Given the description of an element on the screen output the (x, y) to click on. 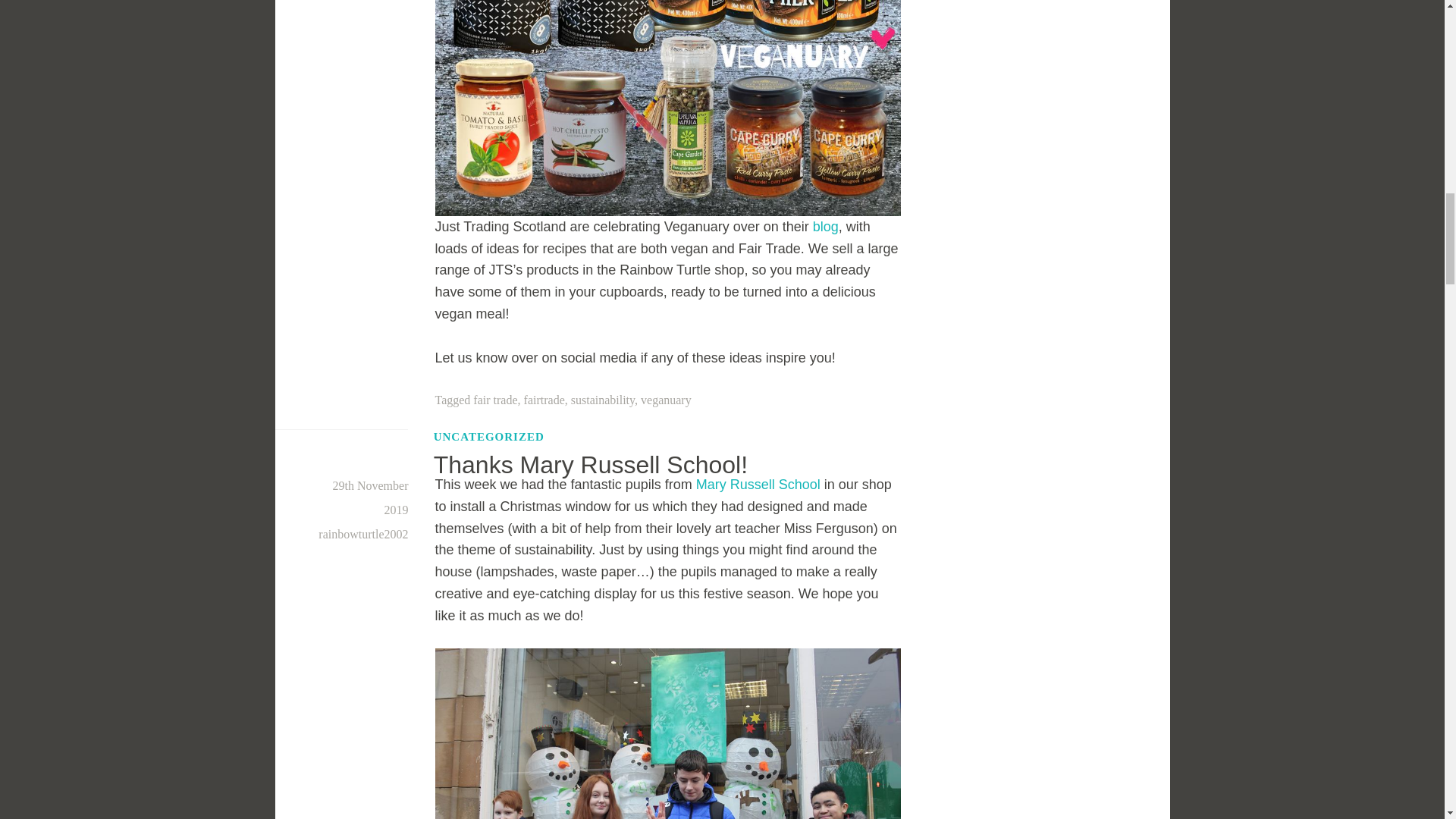
fair trade (494, 399)
blog (825, 226)
